Given the description of an element on the screen output the (x, y) to click on. 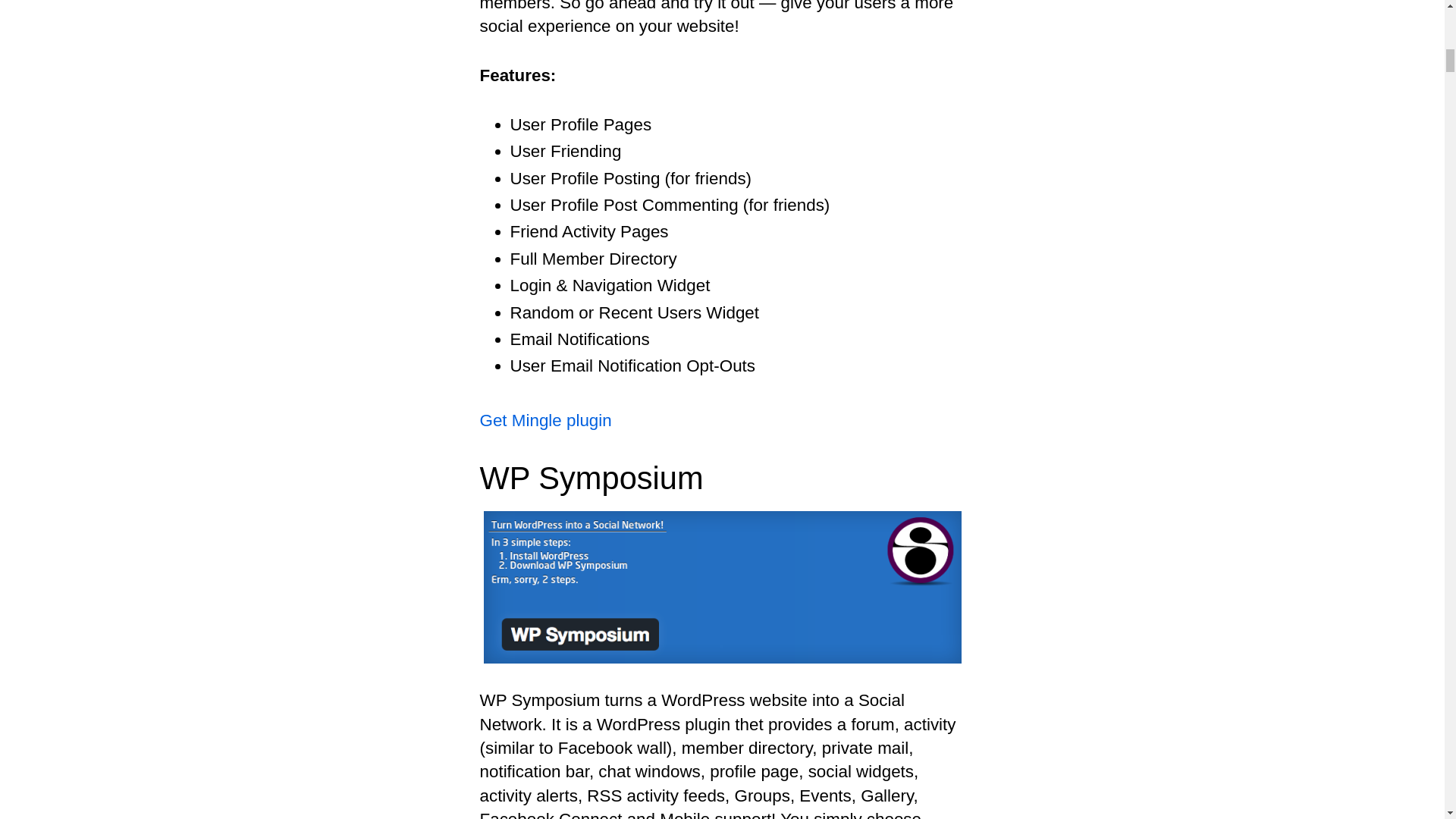
Get Mingle plugin (545, 420)
